Given the description of an element on the screen output the (x, y) to click on. 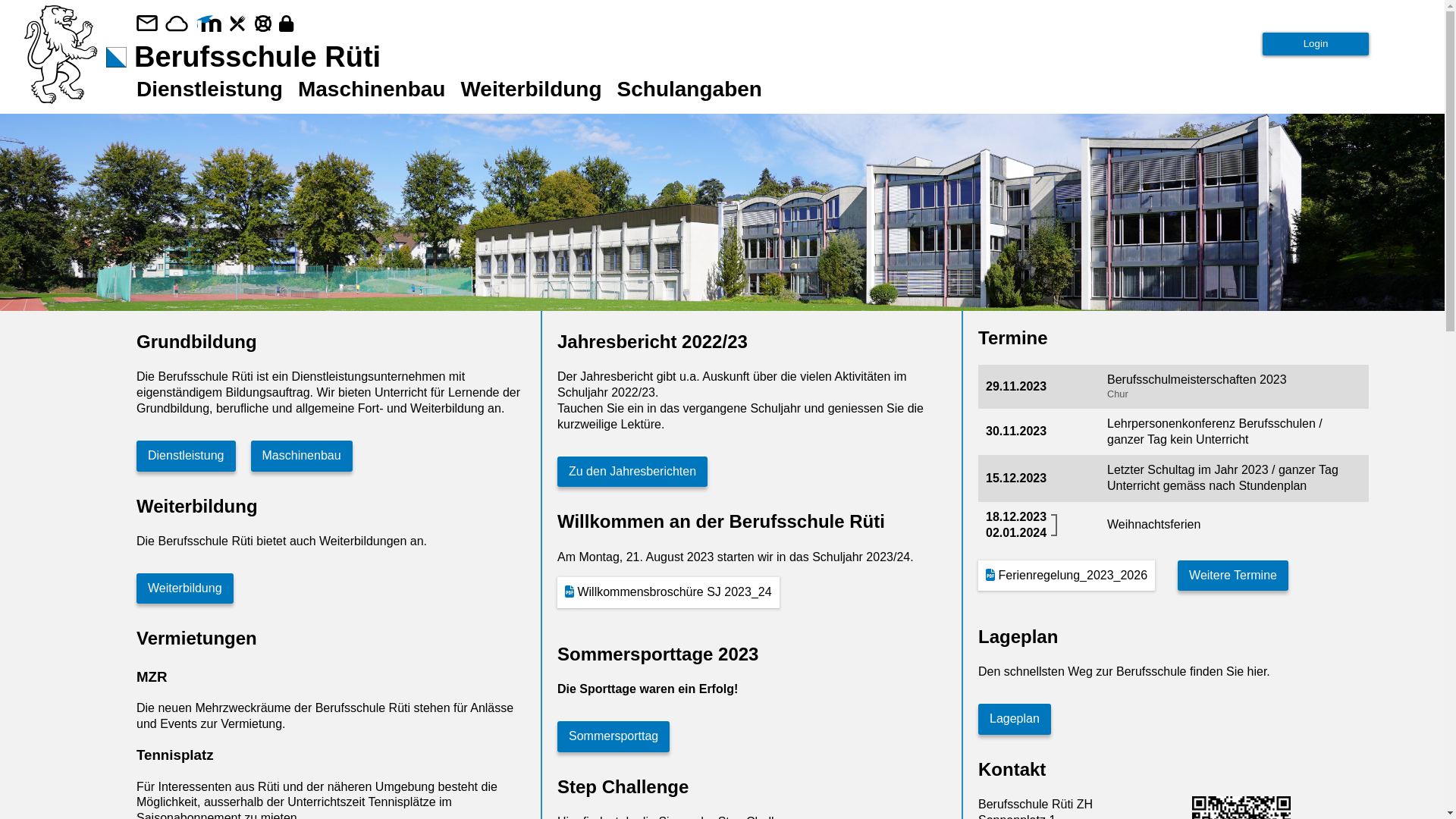
Weiterbildung Element type: text (530, 88)
Ferienregelung_2023_2026 Element type: text (1066, 575)
Sommersporttag Element type: text (620, 732)
Dienstleistung Element type: text (209, 88)
Dienstleistung Element type: text (193, 452)
Weiterbildung Element type: text (192, 584)
Maschinenbau Element type: text (308, 452)
Login Element type: text (1315, 43)
Weitere Termine Element type: text (1240, 572)
Lageplan Element type: text (1022, 715)
Maschinenbau Element type: text (371, 88)
Zu den Jahresberichten Element type: text (639, 468)
